Given the description of an element on the screen output the (x, y) to click on. 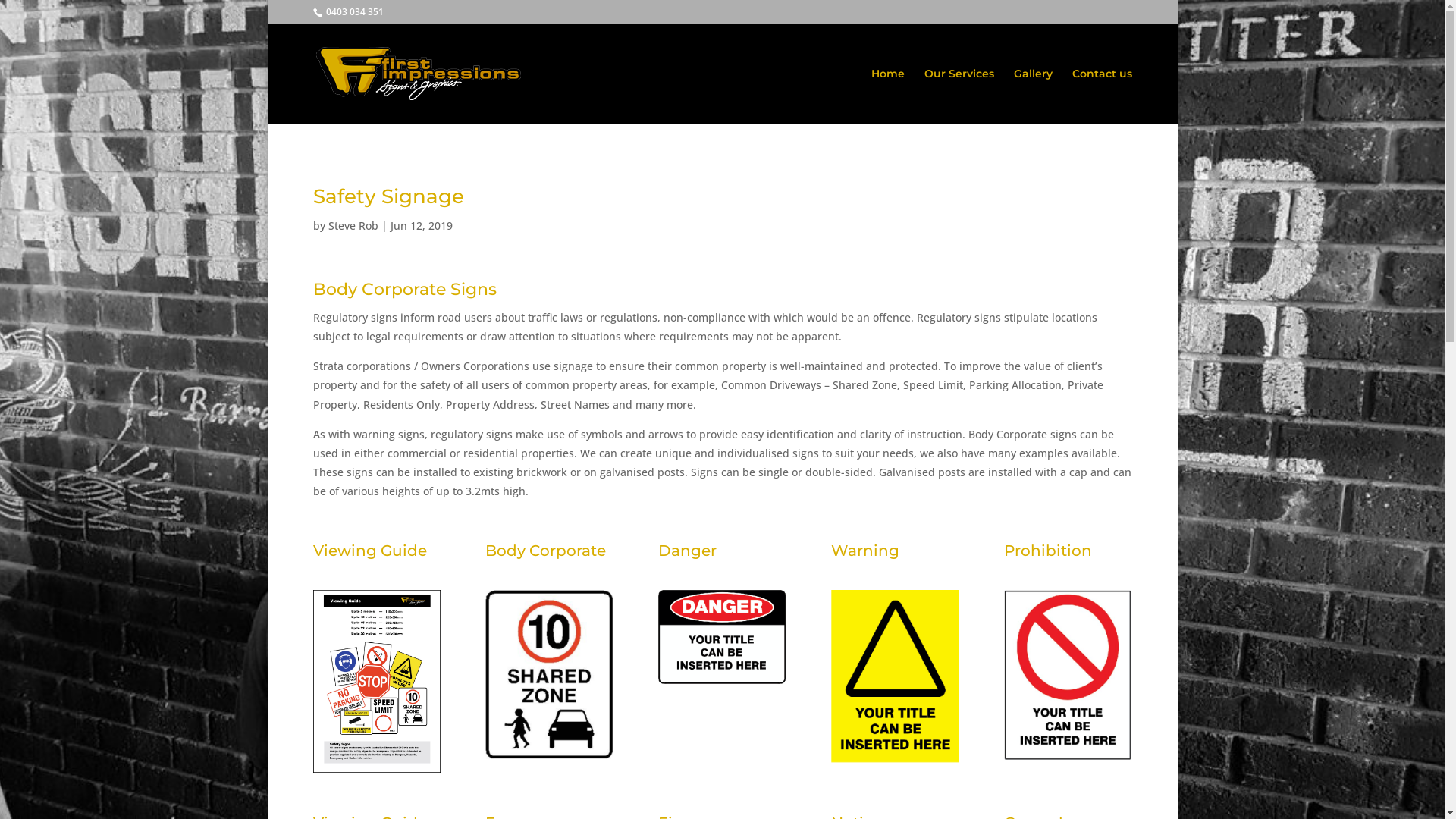
Gallery Element type: text (1032, 95)
Home Element type: text (886, 95)
Steve Rob Element type: text (352, 225)
0403 034 351 Element type: text (352, 11)
Contact us Element type: text (1102, 95)
Our Services Element type: text (958, 95)
